Given the description of an element on the screen output the (x, y) to click on. 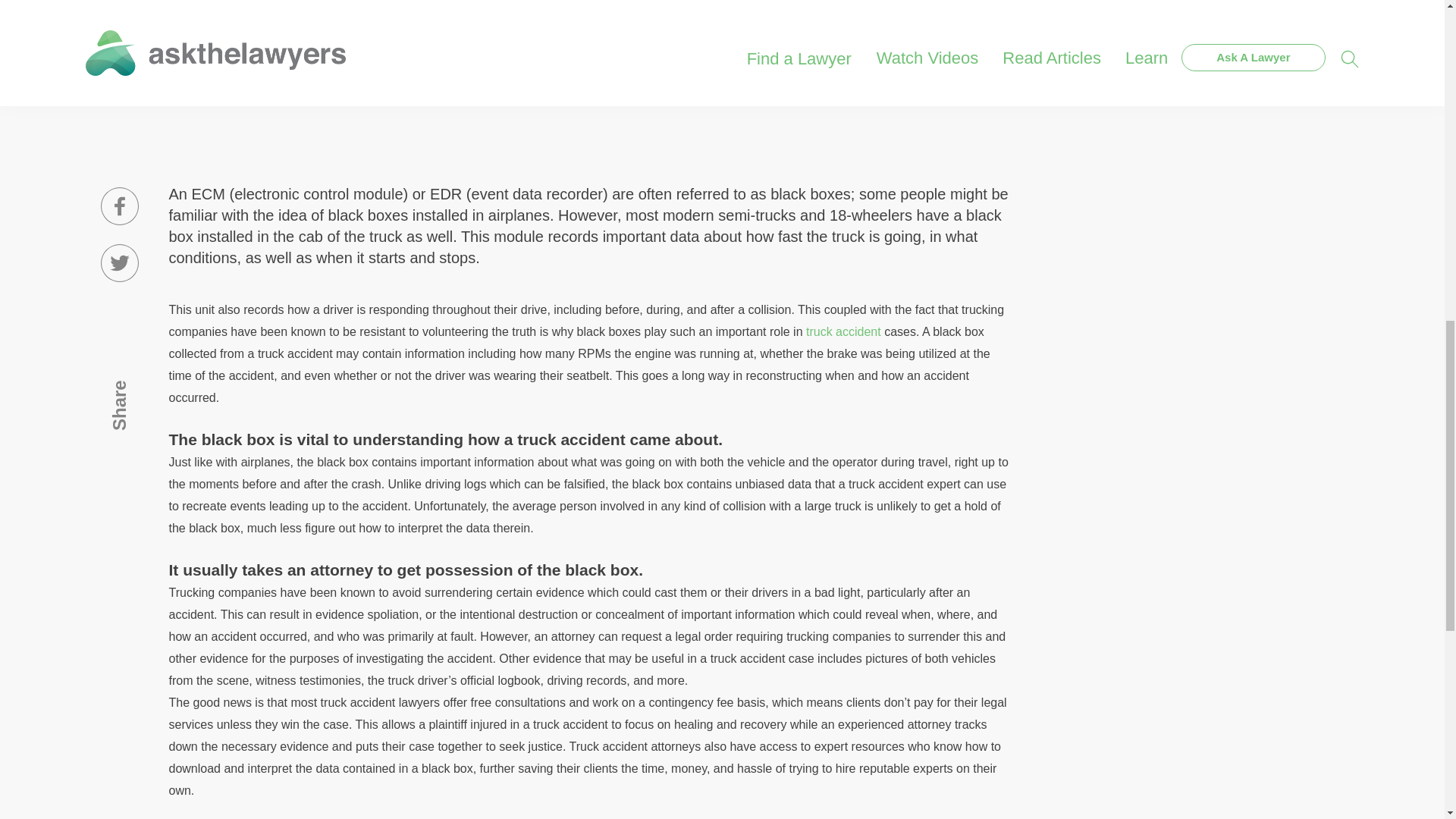
truck accident (843, 331)
